Given the description of an element on the screen output the (x, y) to click on. 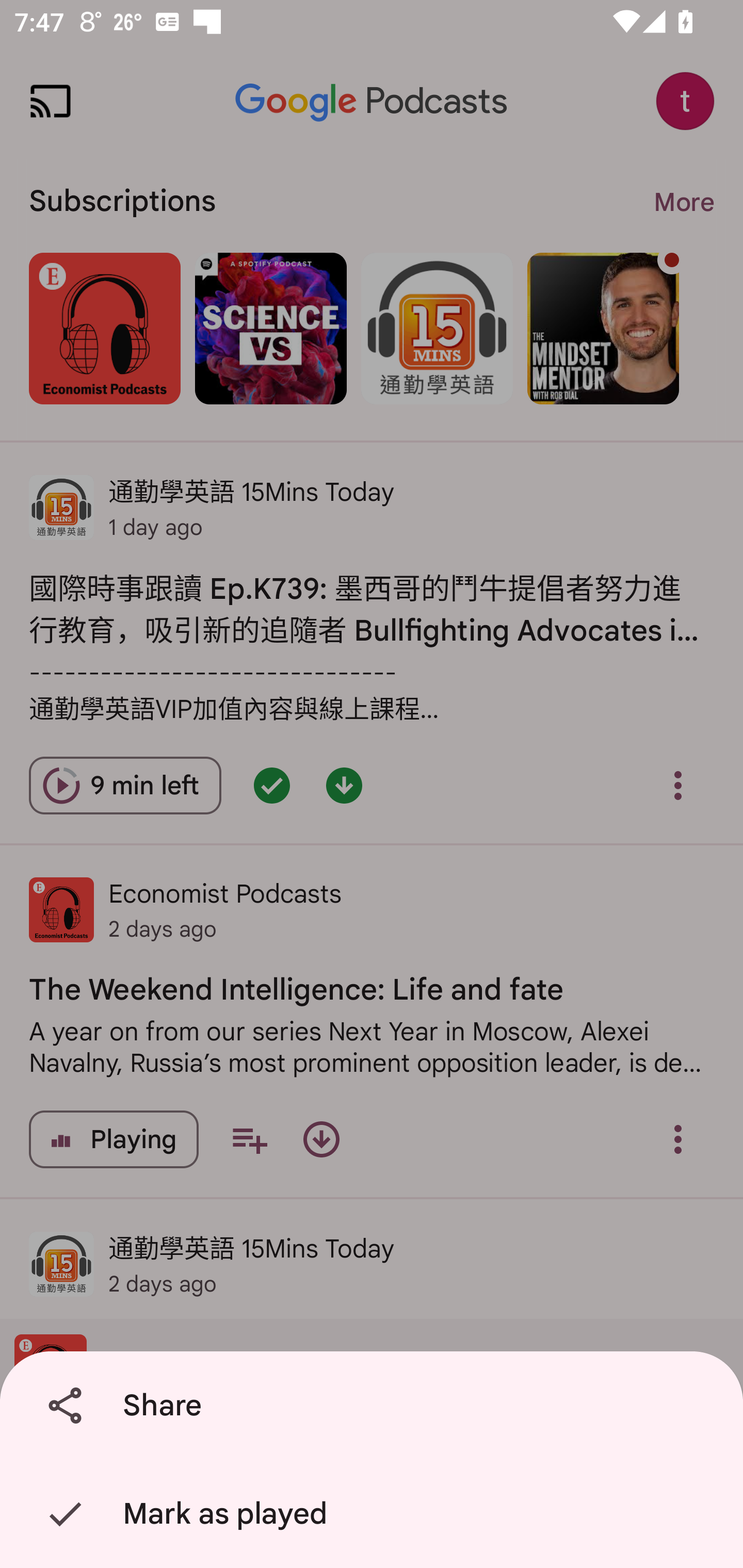
Share (375, 1405)
Mark as played (375, 1513)
